Given the description of an element on the screen output the (x, y) to click on. 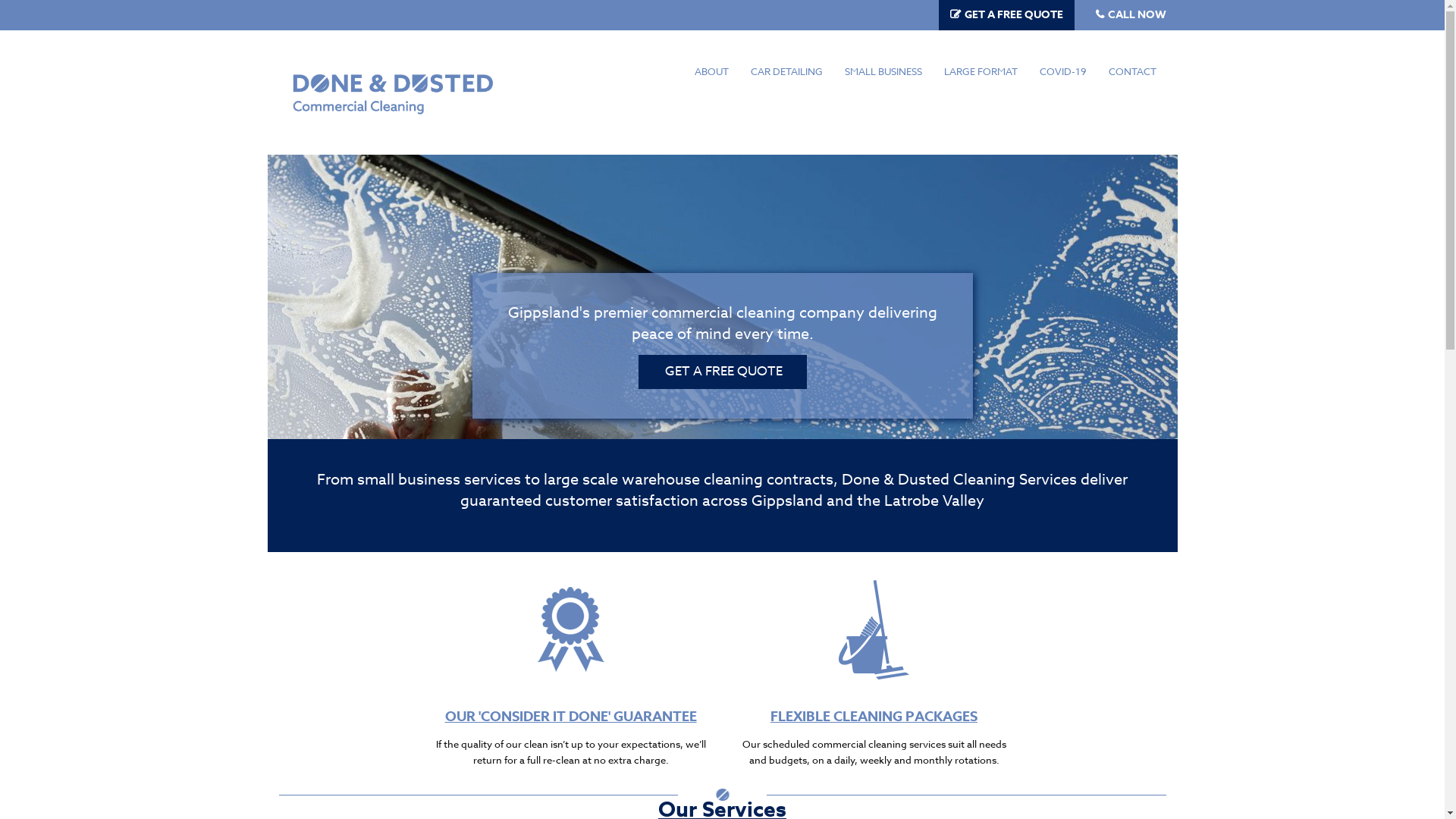
GET A FREE QUOTE Element type: text (722, 371)
COVID-19 Element type: text (1062, 71)
CALL NOW Element type: text (1136, 14)
CONTACT Element type: text (1131, 71)
SMALL BUSINESS Element type: text (882, 71)
CAR DETAILING Element type: text (785, 71)
LARGE FORMAT Element type: text (980, 71)
ABOUT Element type: text (710, 71)
GET A FREE QUOTE Element type: text (1013, 14)
